Given the description of an element on the screen output the (x, y) to click on. 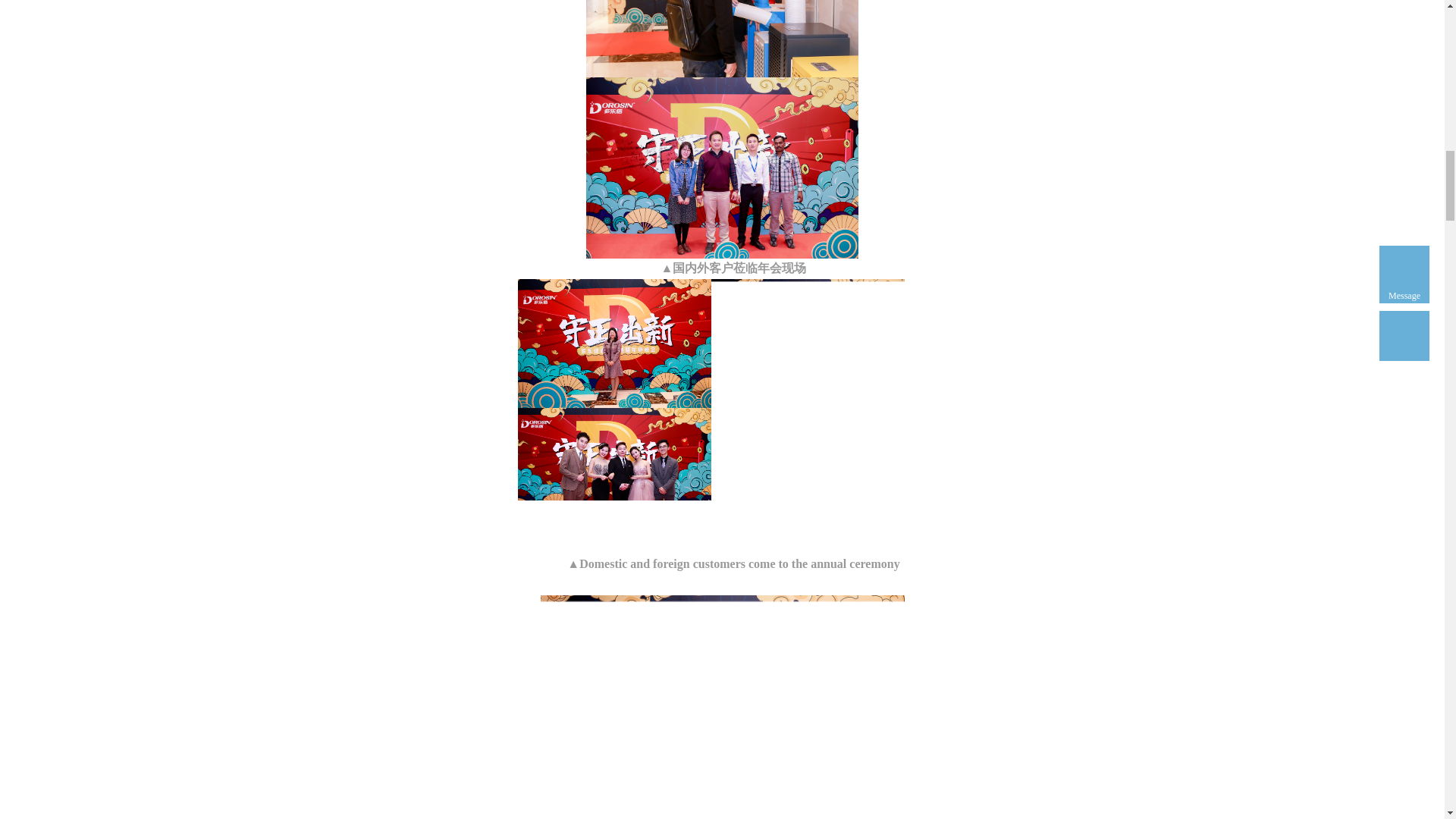
1603501297231640.png (722, 707)
1603447164214470.jpg (613, 343)
1603447176162057.png (807, 343)
1603447250116383.jpg (807, 480)
1603447235347610.png (613, 480)
1603447039819196.jpg (722, 38)
1603447051135279.png (722, 167)
